Given the description of an element on the screen output the (x, y) to click on. 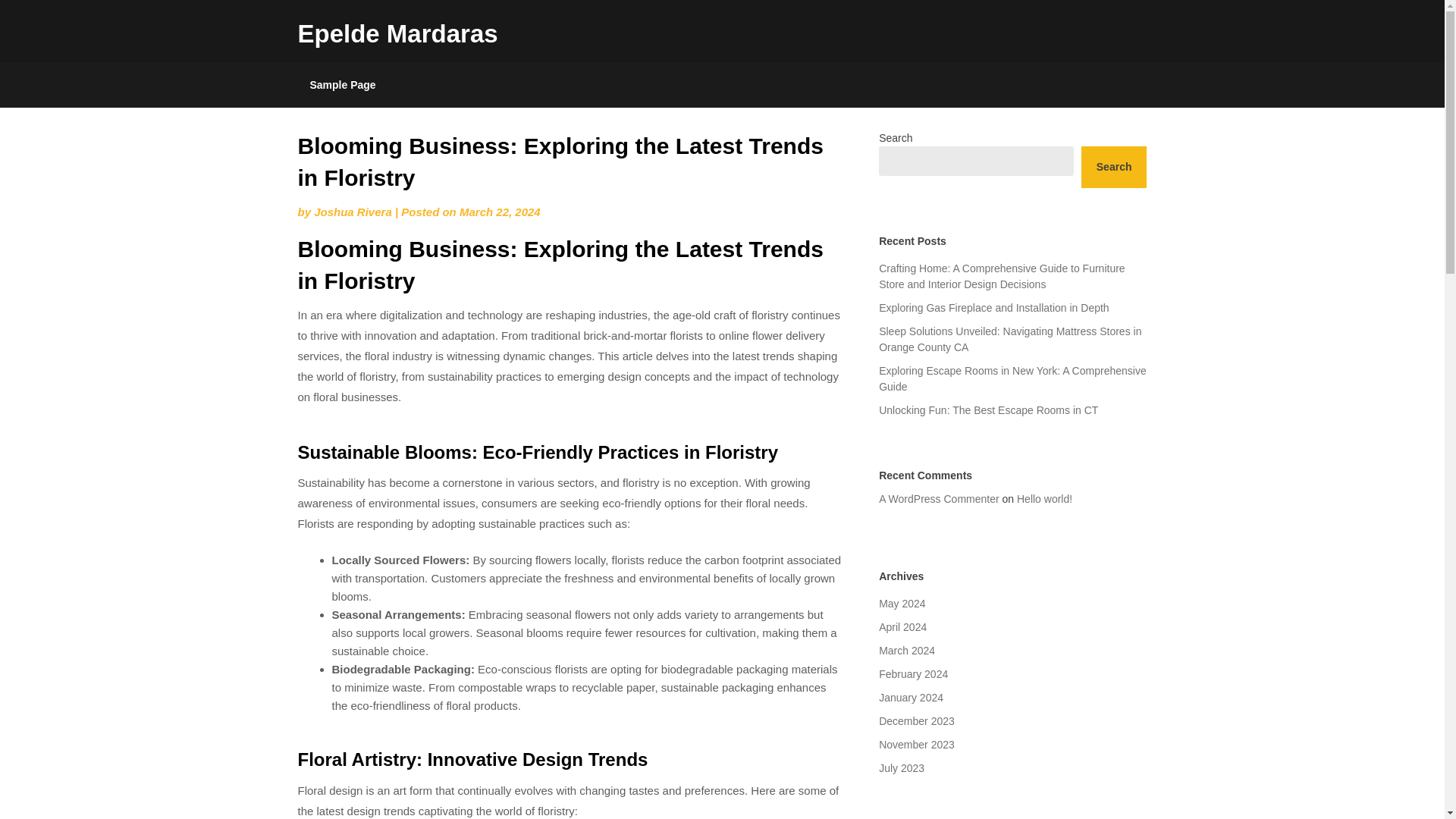
A WordPress Commenter (938, 499)
April 2024 (902, 626)
Hello world! (1043, 499)
Exploring Gas Fireplace and Installation in Depth (994, 307)
February 2024 (913, 674)
Epelde Mardaras (397, 33)
March 2024 (906, 650)
Exploring Escape Rooms in New York: A Comprehensive Guide (1013, 378)
January 2024 (911, 697)
Sample Page (342, 84)
November 2023 (917, 744)
Unlocking Fun: The Best Escape Rooms in CT (988, 410)
